Given the description of an element on the screen output the (x, y) to click on. 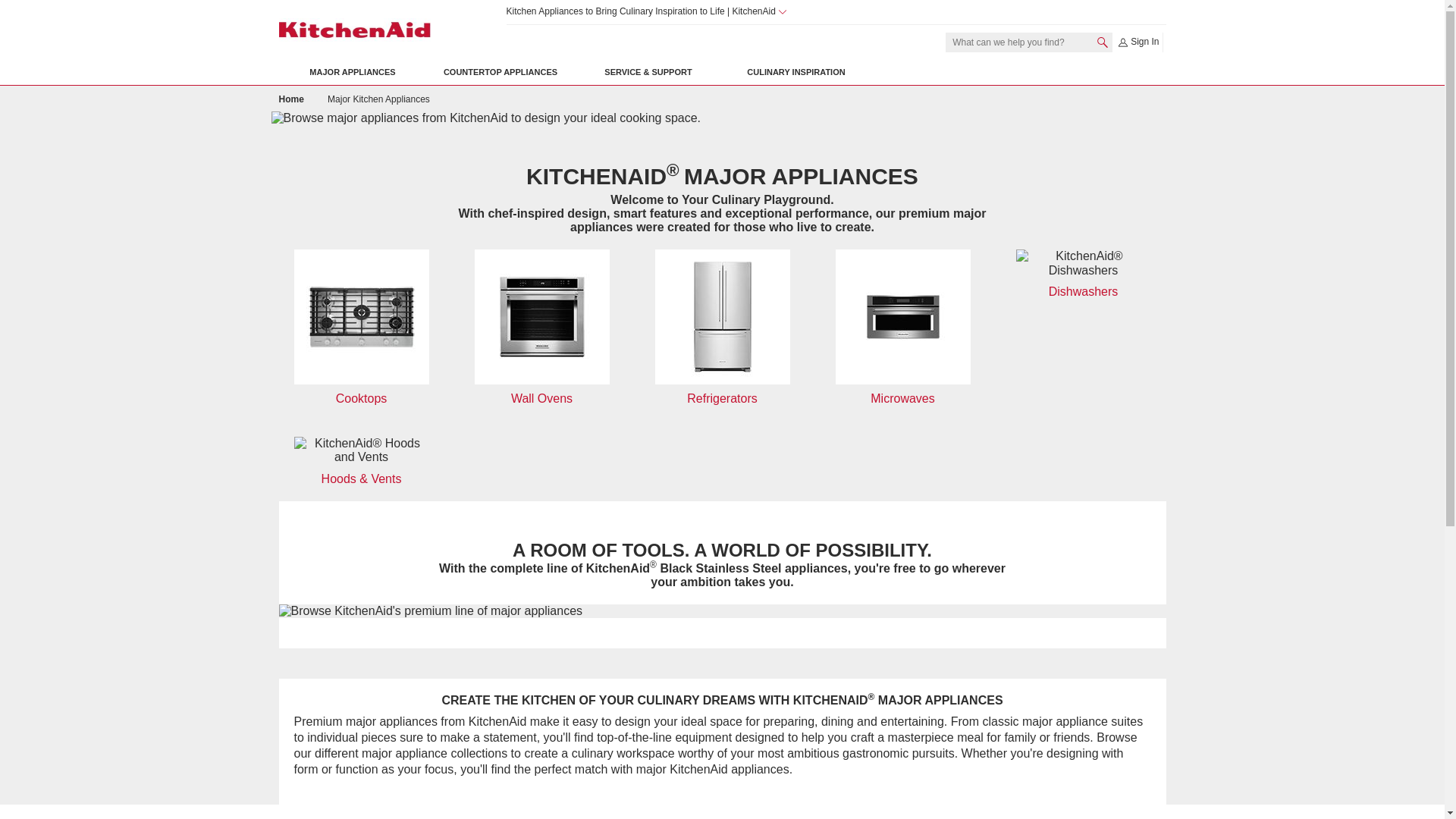
COUNTERTOP APPLIANCES (499, 72)
Sign In (1138, 42)
CULINARY INSPIRATION (795, 72)
KitchenAid (354, 29)
Sign In (1138, 42)
MAJOR APPLIANCES (352, 72)
